Given the description of an element on the screen output the (x, y) to click on. 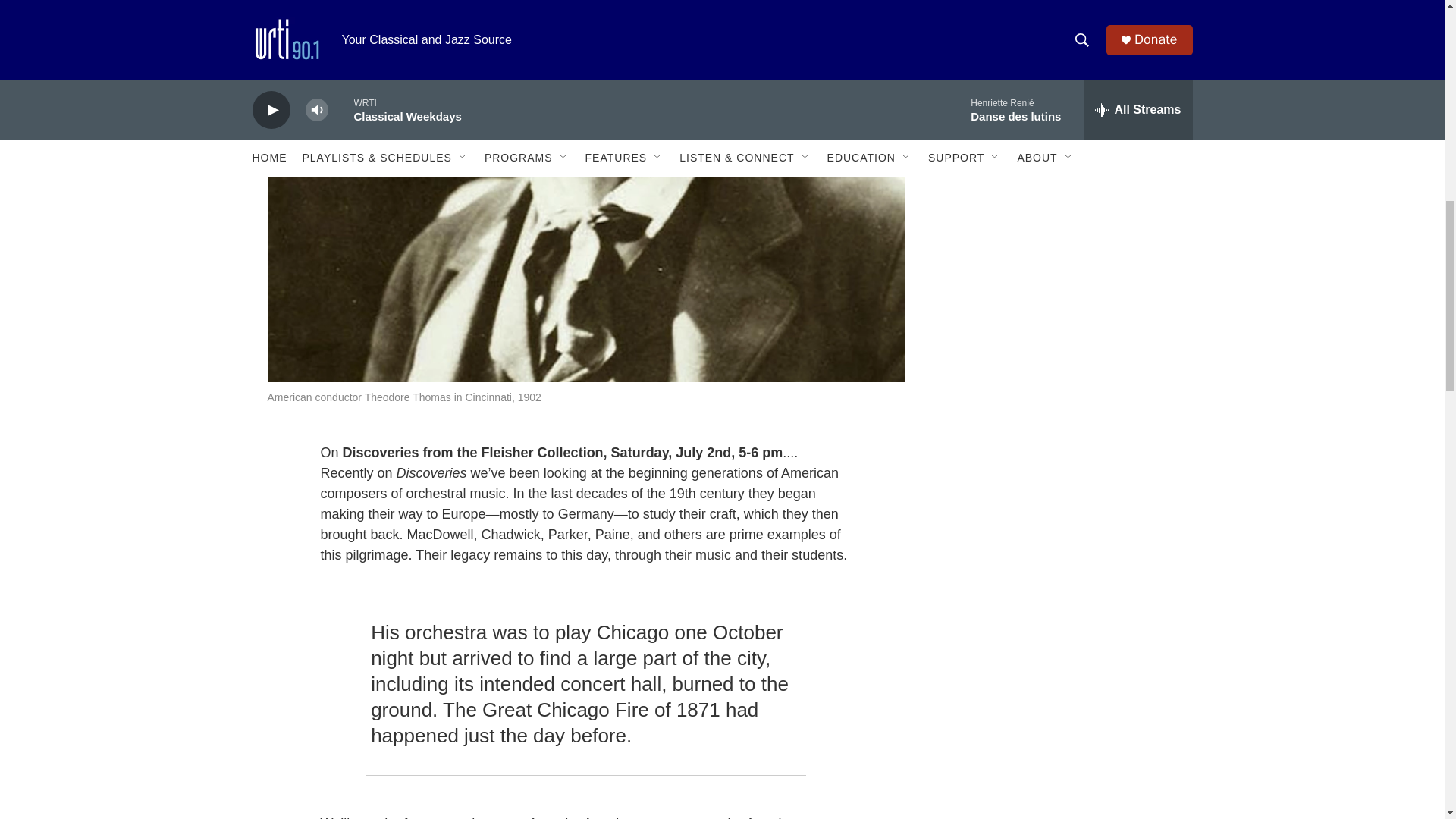
3rd party ad content (1062, 585)
3rd party ad content (1062, 380)
3rd party ad content (1062, 175)
